Given the description of an element on the screen output the (x, y) to click on. 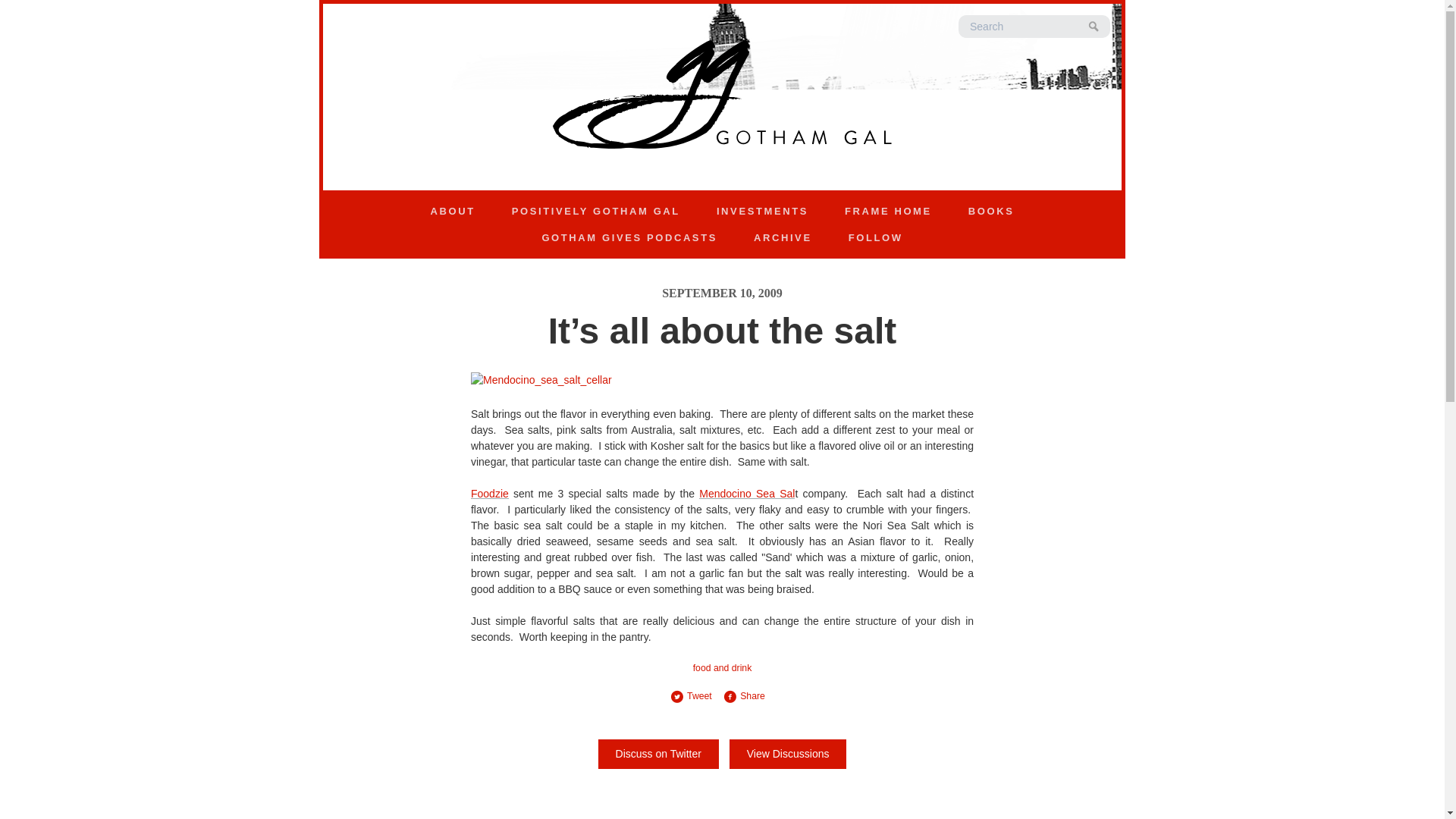
Foodzie (489, 493)
View Discussions (788, 754)
ABOUT (452, 210)
Tweet (696, 696)
Follow (875, 237)
Share (748, 696)
View Discussions (788, 754)
FRAME HOME (888, 210)
INVESTMENTS (762, 210)
Books (990, 210)
Investments (762, 210)
GOTHAM GIVES PODCASTS (628, 237)
Archive (782, 237)
Discuss on Twitter (658, 754)
POSITIVELY GOTHAM GAL (596, 210)
